Given the description of an element on the screen output the (x, y) to click on. 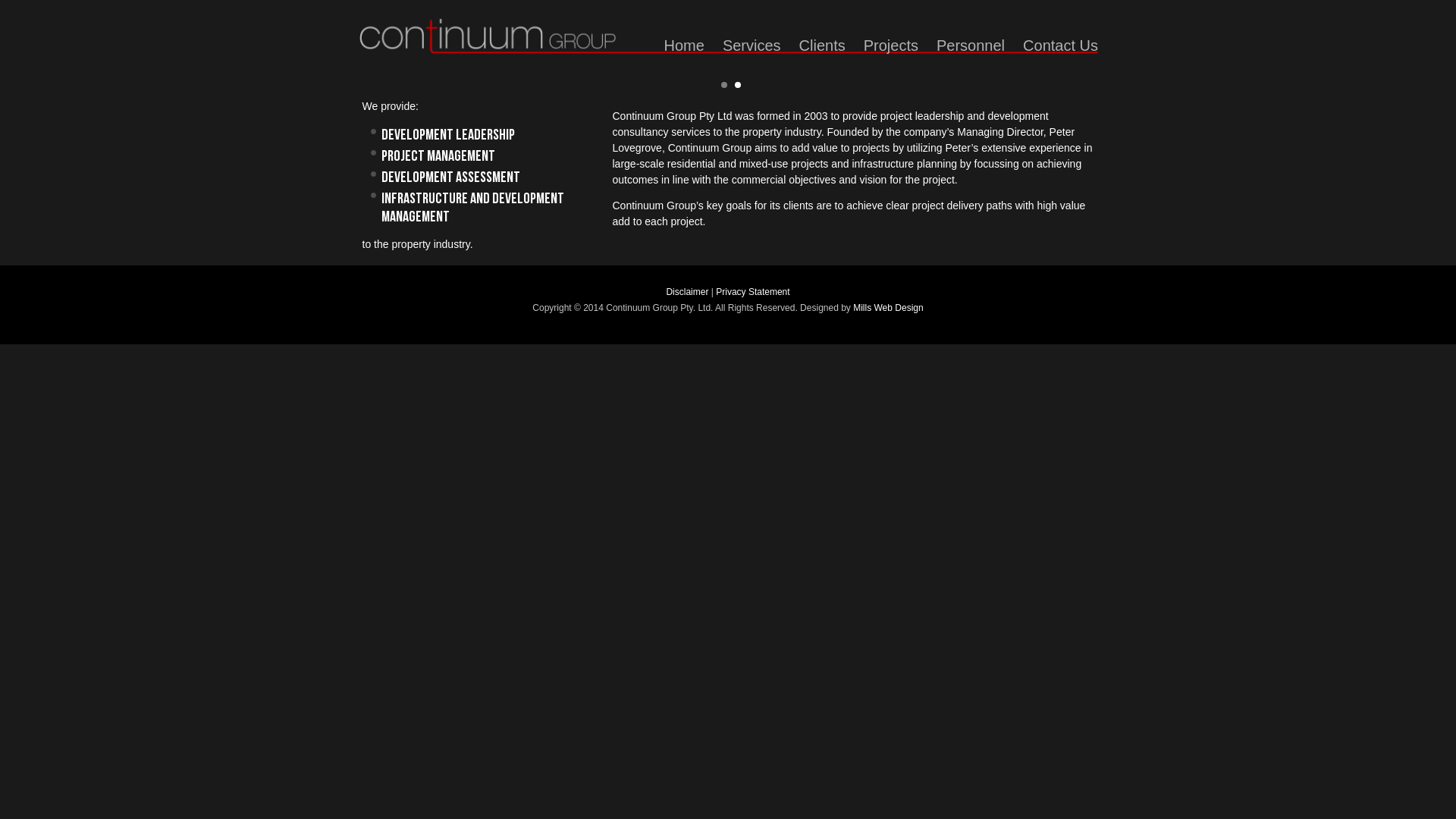
Projects Element type: text (890, 45)
Disclaimer Element type: text (686, 291)
Privacy Statement Element type: text (752, 291)
Contact Us Element type: text (1060, 45)
Personnel Element type: text (970, 45)
Home Element type: text (684, 45)
Clients Element type: text (822, 45)
Services Element type: text (751, 45)
Mills Web Design Element type: text (887, 307)
